Given the description of an element on the screen output the (x, y) to click on. 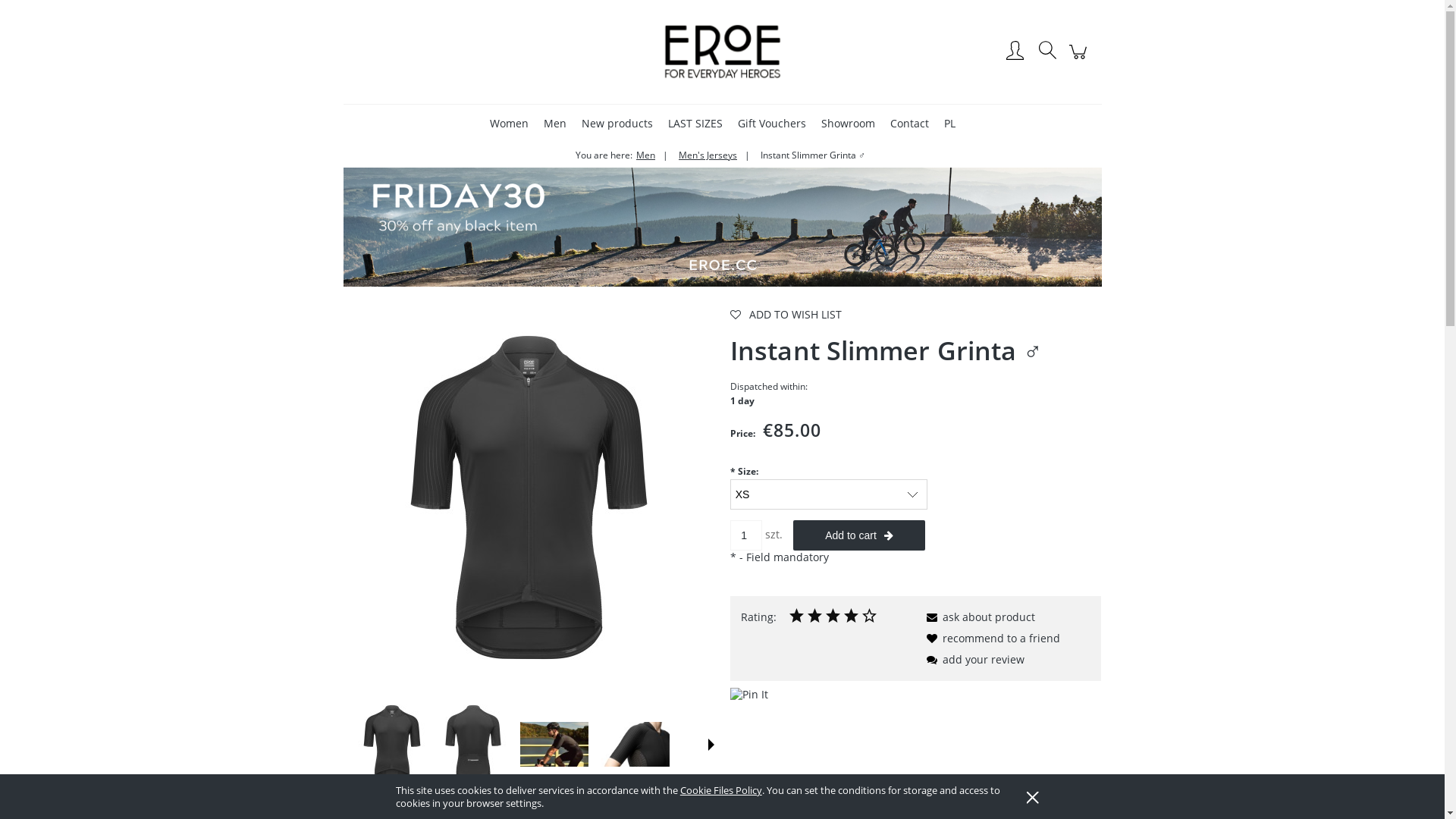
PL Element type: text (948, 122)
Friday30 Element type: hover (721, 225)
Eroe Aero Black det 3 Element type: hover (635, 743)
Eroe Aero Black Men F [#3094] Element type: hover (391, 743)
Contact Element type: text (909, 122)
Add to cart Element type: text (859, 535)
Men's Jerseys Element type: text (713, 154)
You are here: Element type: text (603, 154)
New products Element type: text (616, 122)
LAST SIZES Element type: text (694, 122)
ADD TO WISH LIST Element type: text (915, 314)
Home page Element type: hover (721, 51)
Pin It Element type: hover (749, 694)
add your review Element type: text (972, 659)
Men Element type: text (553, 122)
Men Element type: text (652, 154)
ask about product Element type: text (978, 616)
Eroe Aero Black Men B [#3096] Element type: hover (473, 743)
Cookie Files Policy Element type: text (721, 790)
_DSF0108 1 Element type: hover (554, 743)
Cart Element type: hover (1079, 58)
Showroom Element type: text (847, 122)
Women Element type: text (508, 122)
Gift Vouchers Element type: text (771, 122)
recommend to a friend Element type: text (990, 637)
